Given the description of an element on the screen output the (x, y) to click on. 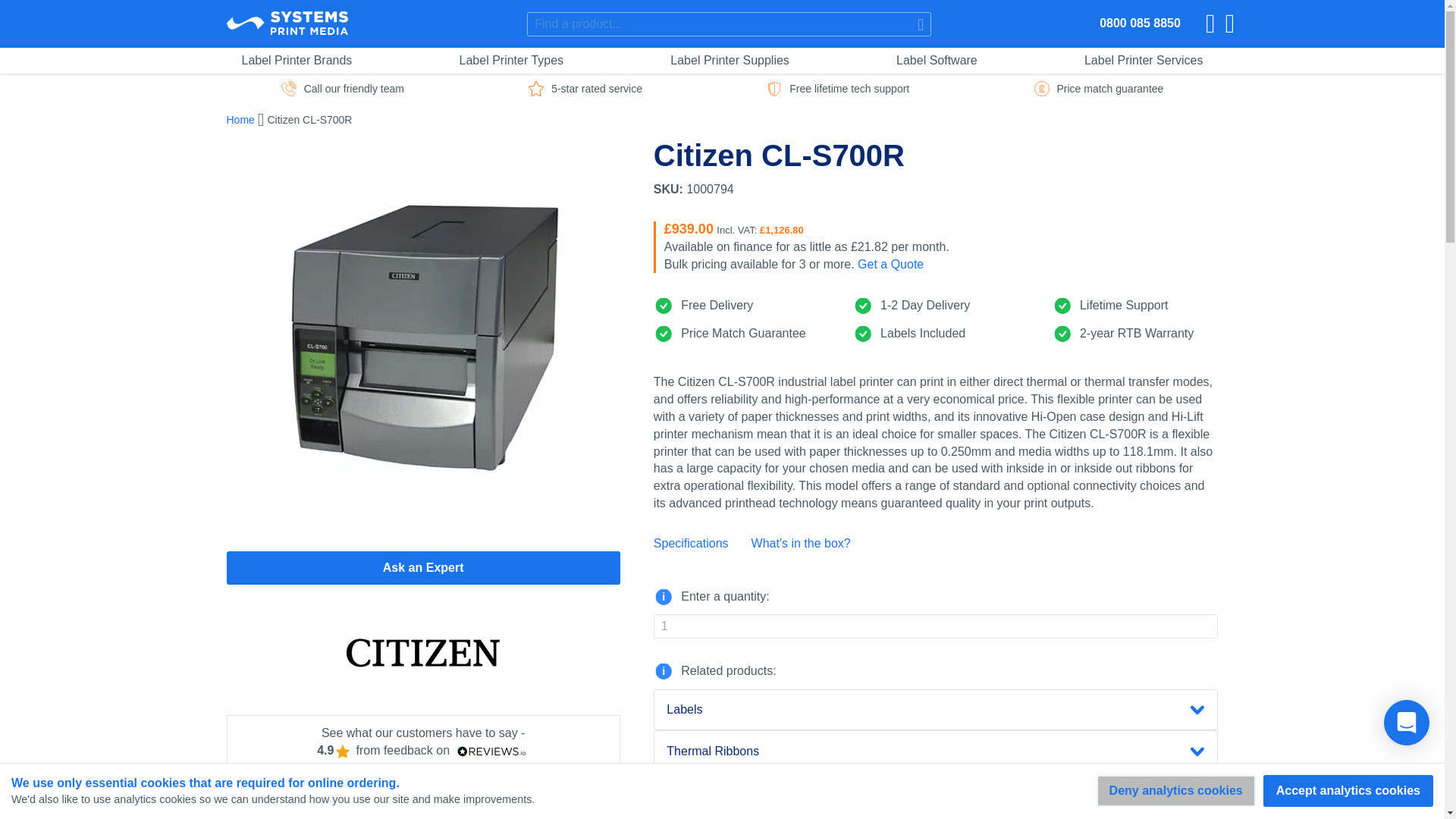
Label Printer Supplies (730, 60)
1 (935, 626)
0800 085 8850 (1139, 22)
Label Printer Brands (295, 60)
Go to Home Page (239, 119)
Quantity (935, 626)
Citizen Label Printers logo (422, 652)
Label Printer Types (511, 60)
